Given the description of an element on the screen output the (x, y) to click on. 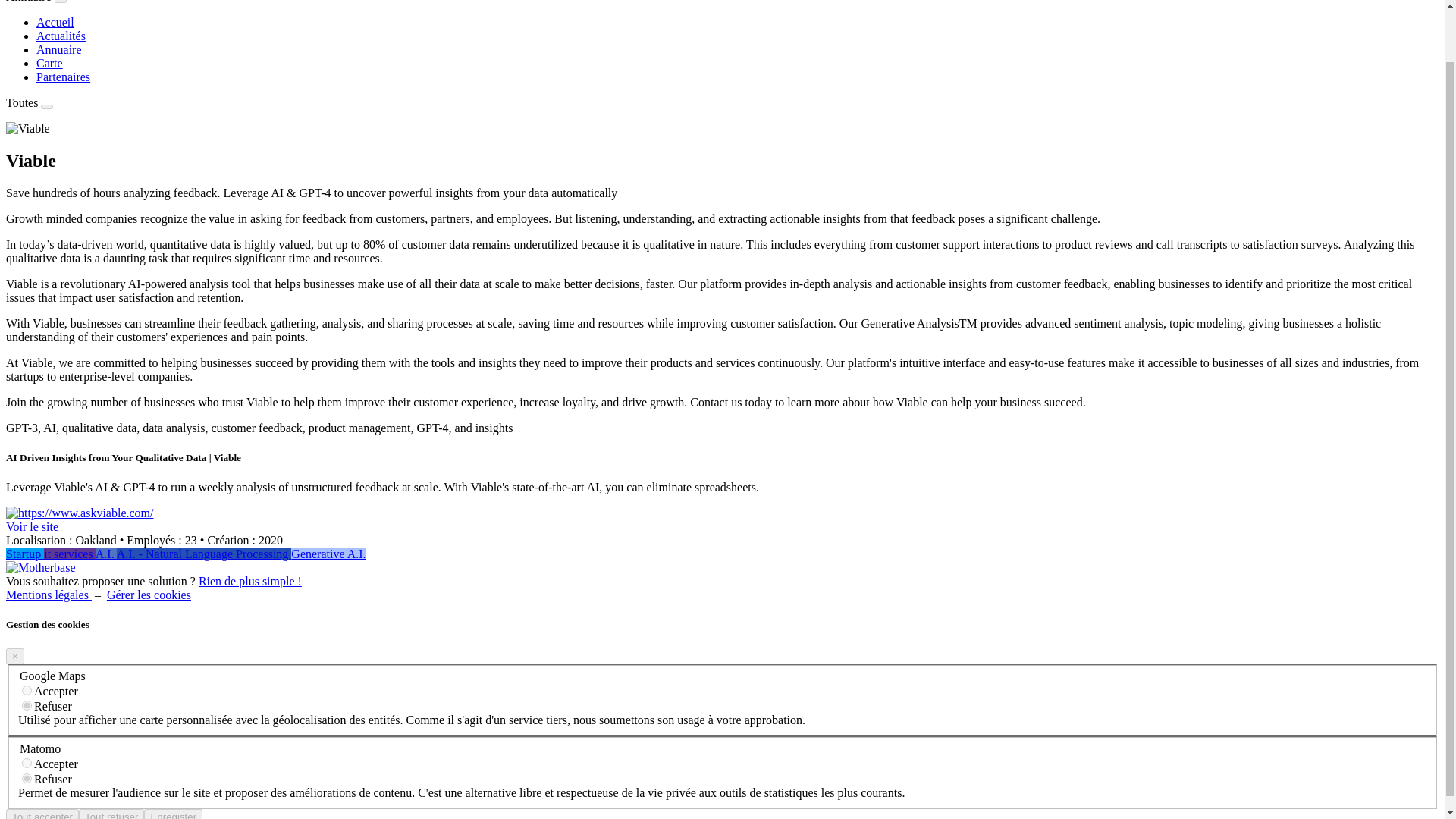
Voir le site (31, 526)
Annuaire (58, 49)
Rien de plus simple ! (249, 581)
Carte (49, 62)
Annuaire (30, 1)
A.I. (106, 553)
Partenaires (63, 76)
Accueil (55, 21)
Generative A.I. (328, 553)
Carte (49, 62)
